Given the description of an element on the screen output the (x, y) to click on. 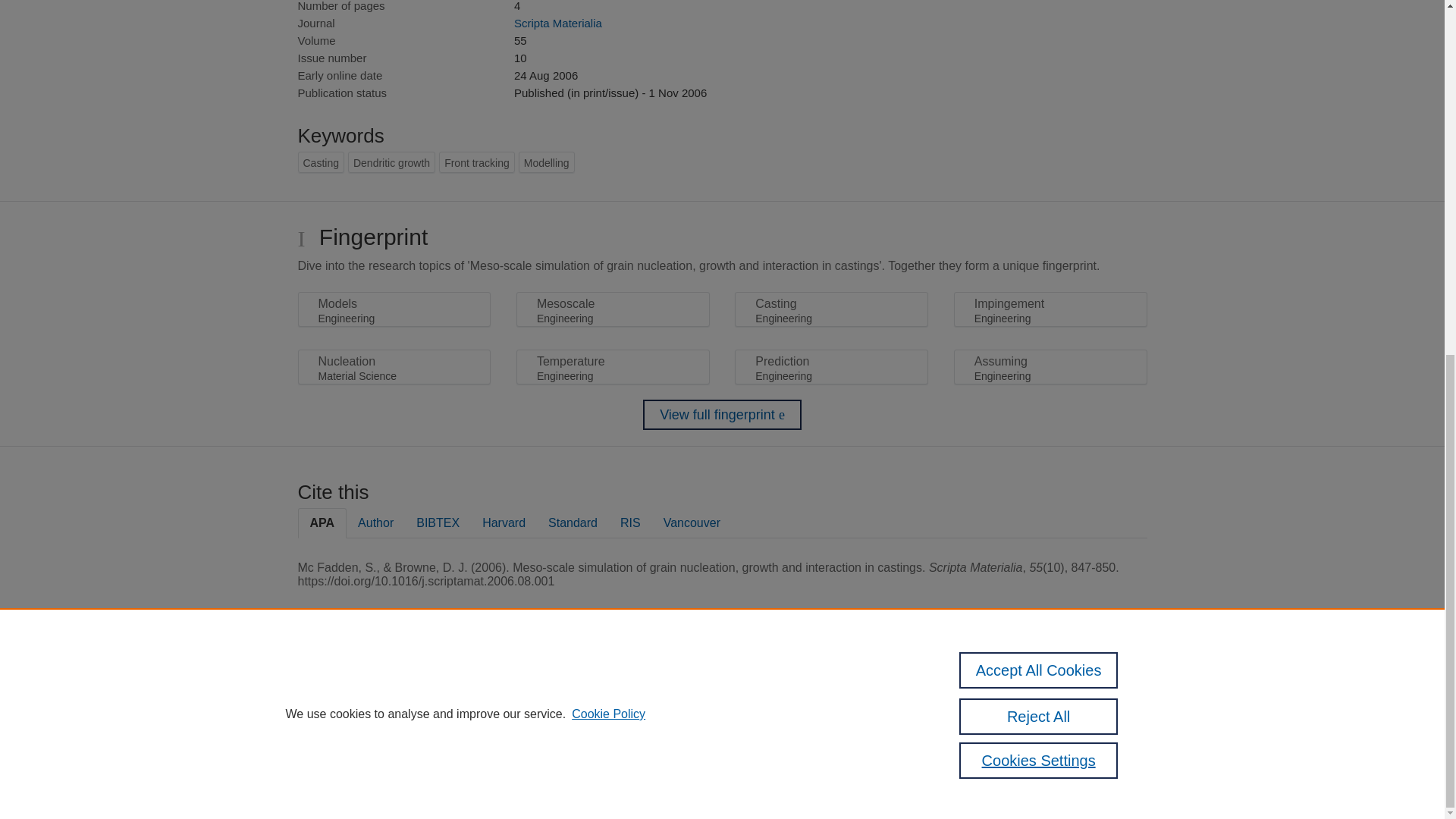
Scopus (394, 686)
Pure (362, 686)
Elsevier B.V. (506, 707)
View full fingerprint (722, 414)
Scripta Materialia (557, 22)
use of cookies (796, 739)
